Given the description of an element on the screen output the (x, y) to click on. 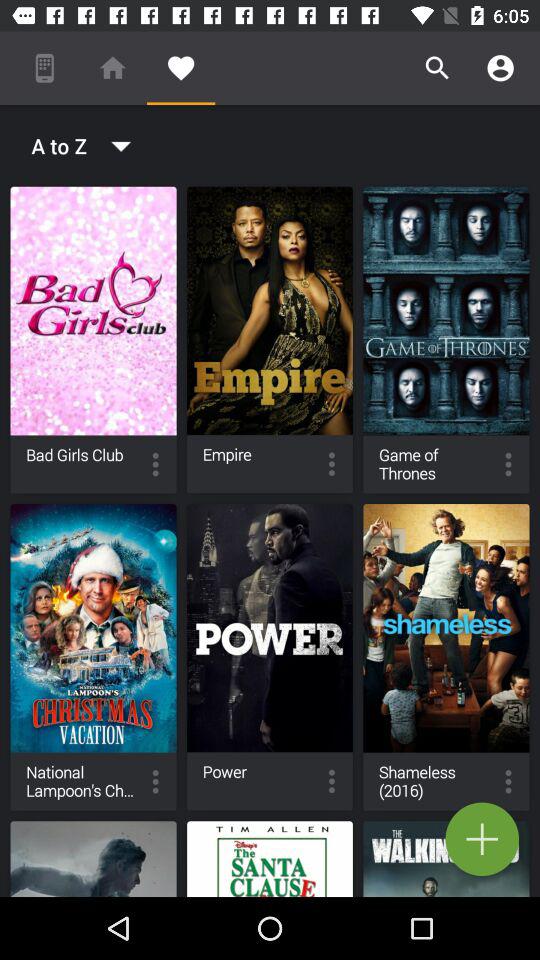
choose the item above the a to z item (180, 68)
